Given the description of an element on the screen output the (x, y) to click on. 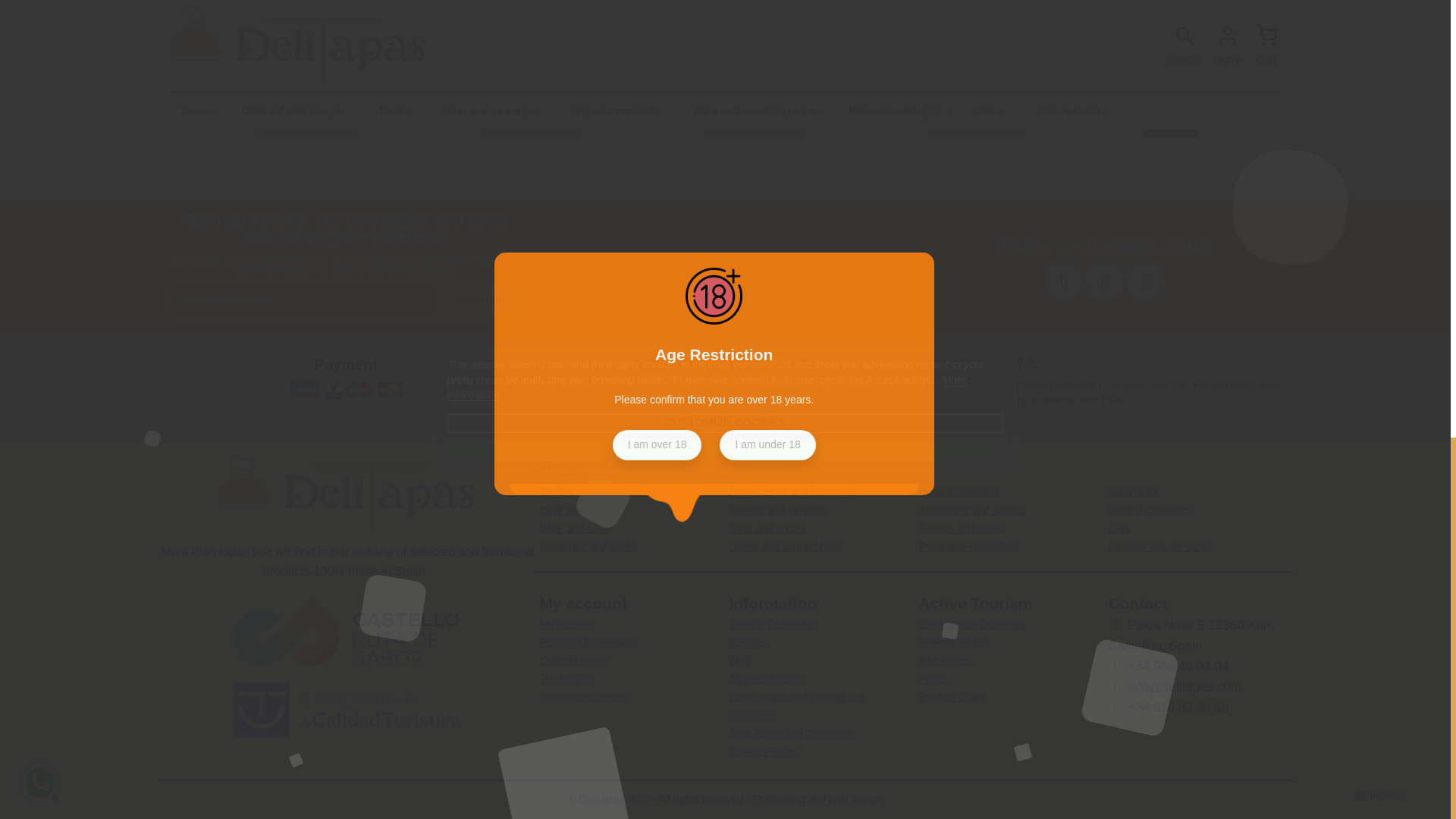
1 (666, 121)
1 (221, 121)
1 (444, 121)
Subscribe (479, 300)
1 (889, 121)
